Given the description of an element on the screen output the (x, y) to click on. 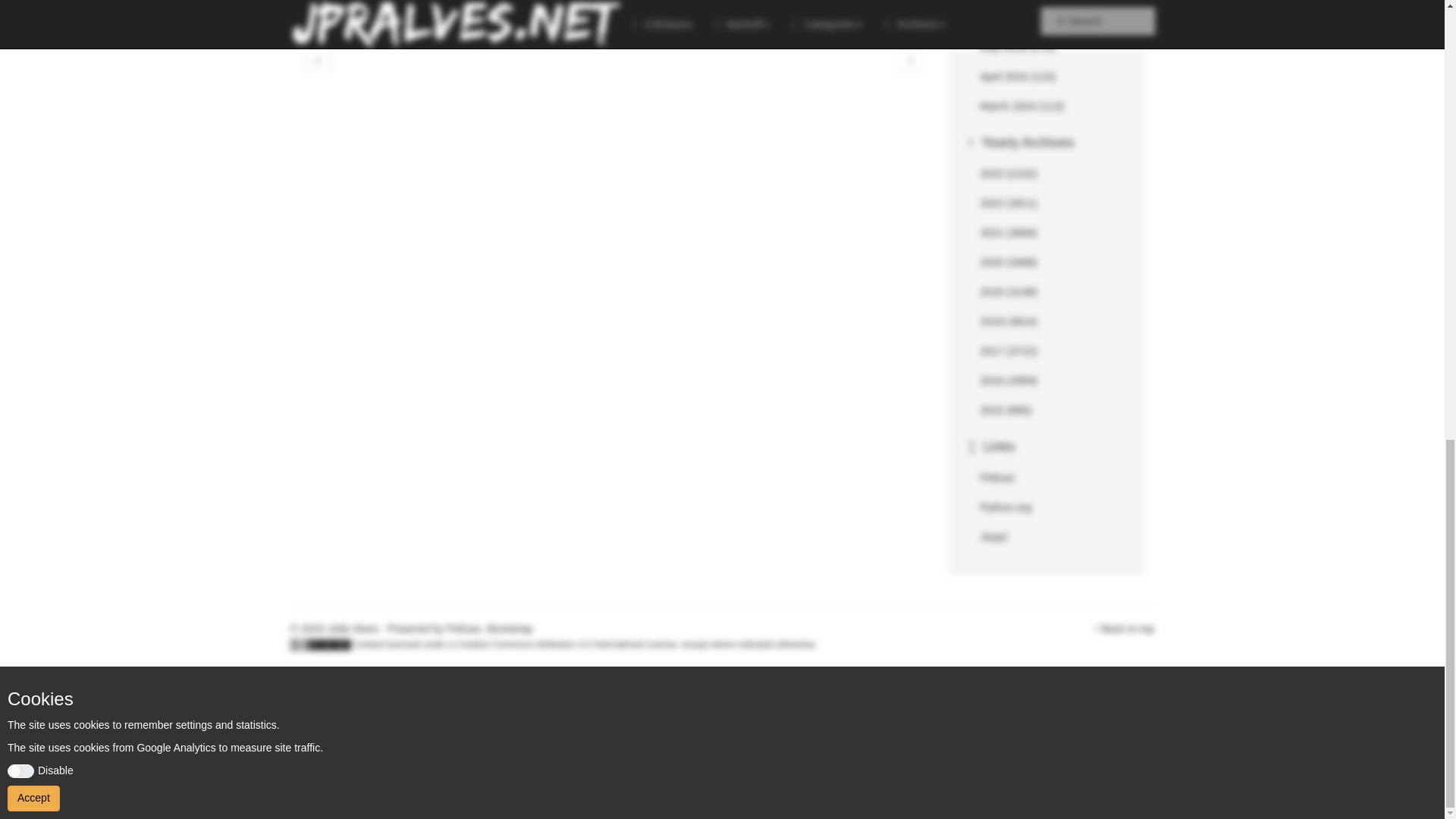
Link for Python.org (1004, 507)
Link for Jinja2 (993, 536)
Link for Pelican (996, 477)
